Given the description of an element on the screen output the (x, y) to click on. 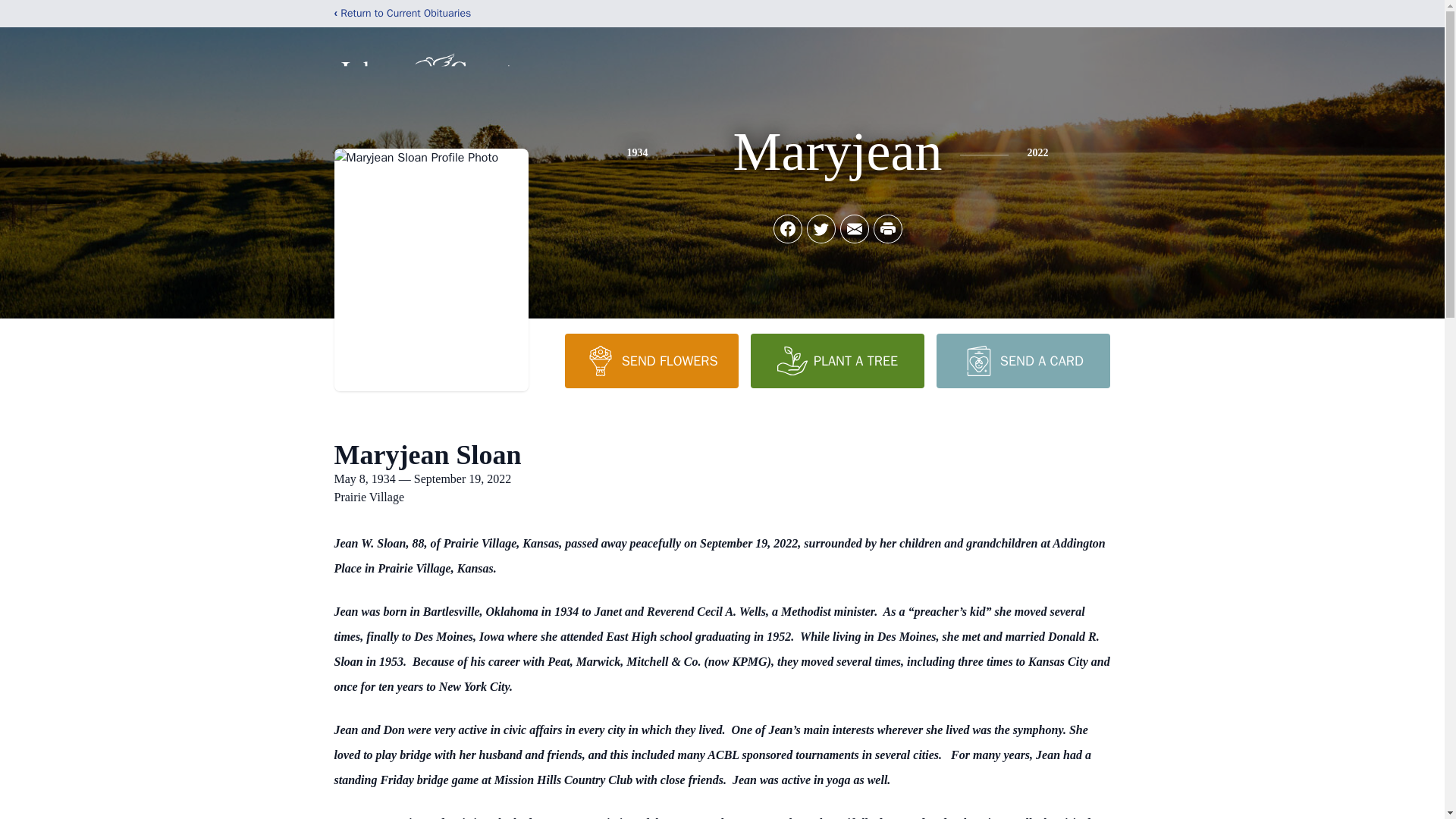
SEND A CARD (1022, 360)
PLANT A TREE (837, 360)
SEND FLOWERS (651, 360)
